Given the description of an element on the screen output the (x, y) to click on. 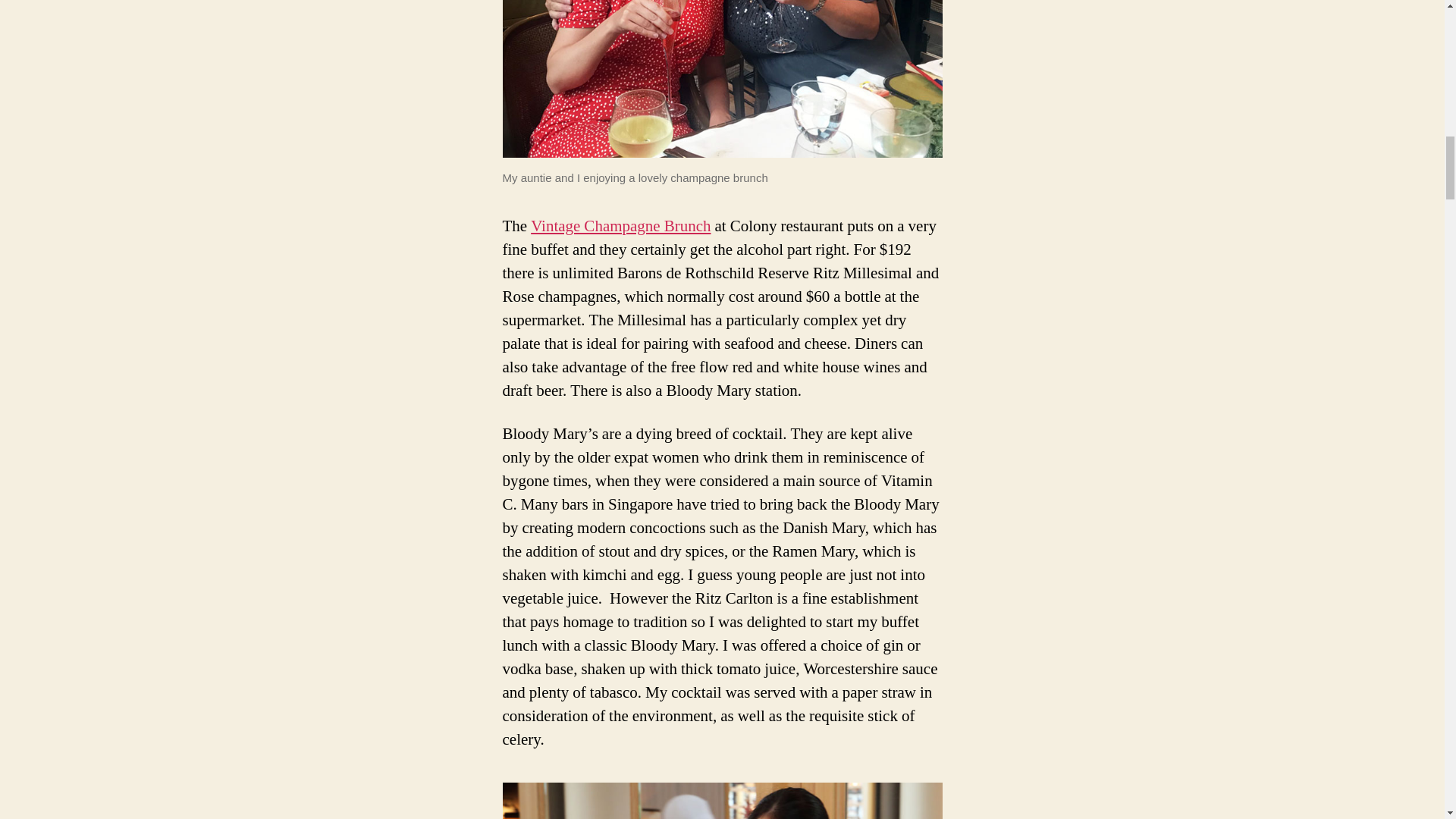
Vintage Champagne Brunch (620, 226)
